Given the description of an element on the screen output the (x, y) to click on. 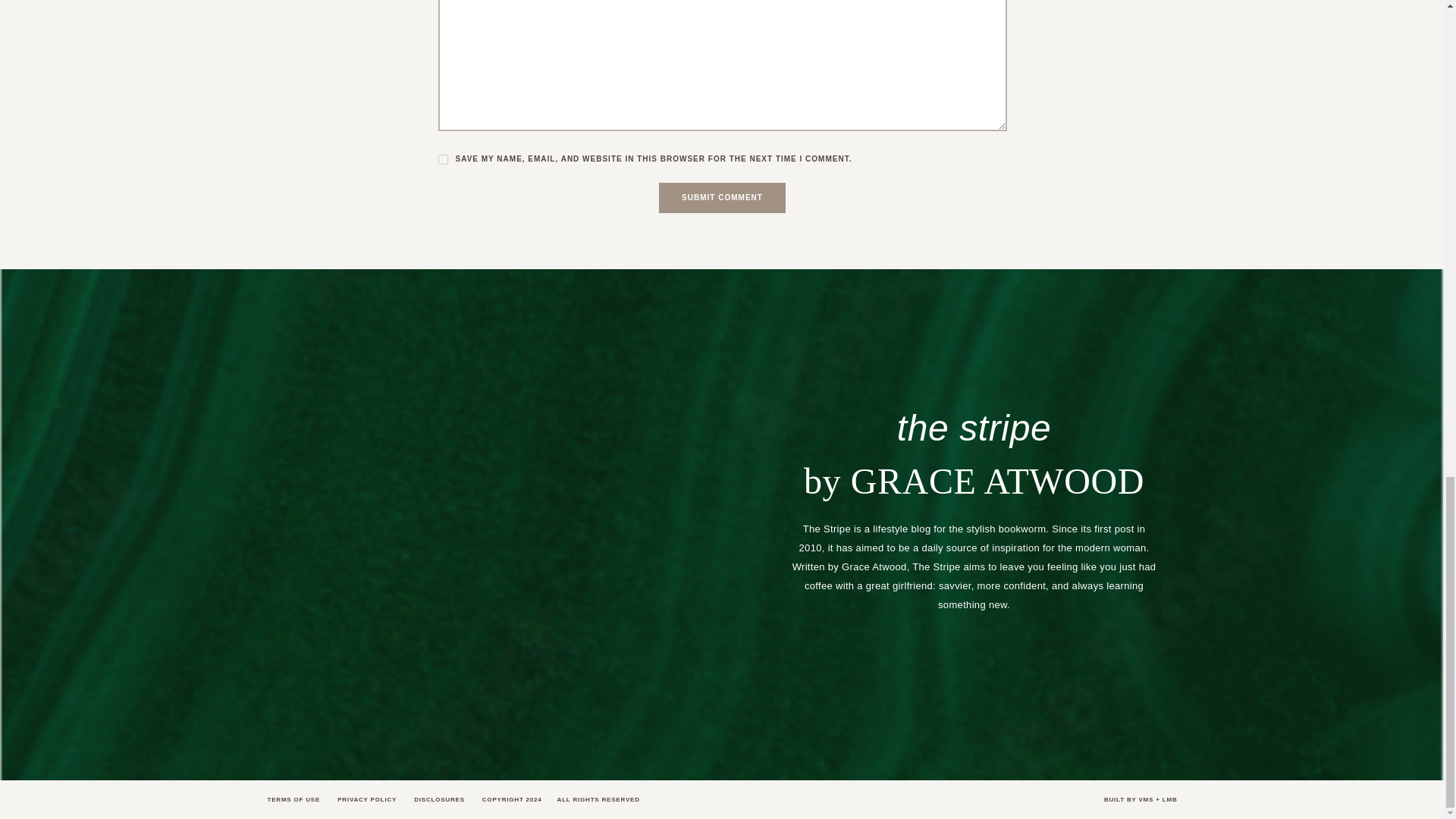
Submit Comment (722, 197)
yes (443, 159)
